Given the description of an element on the screen output the (x, y) to click on. 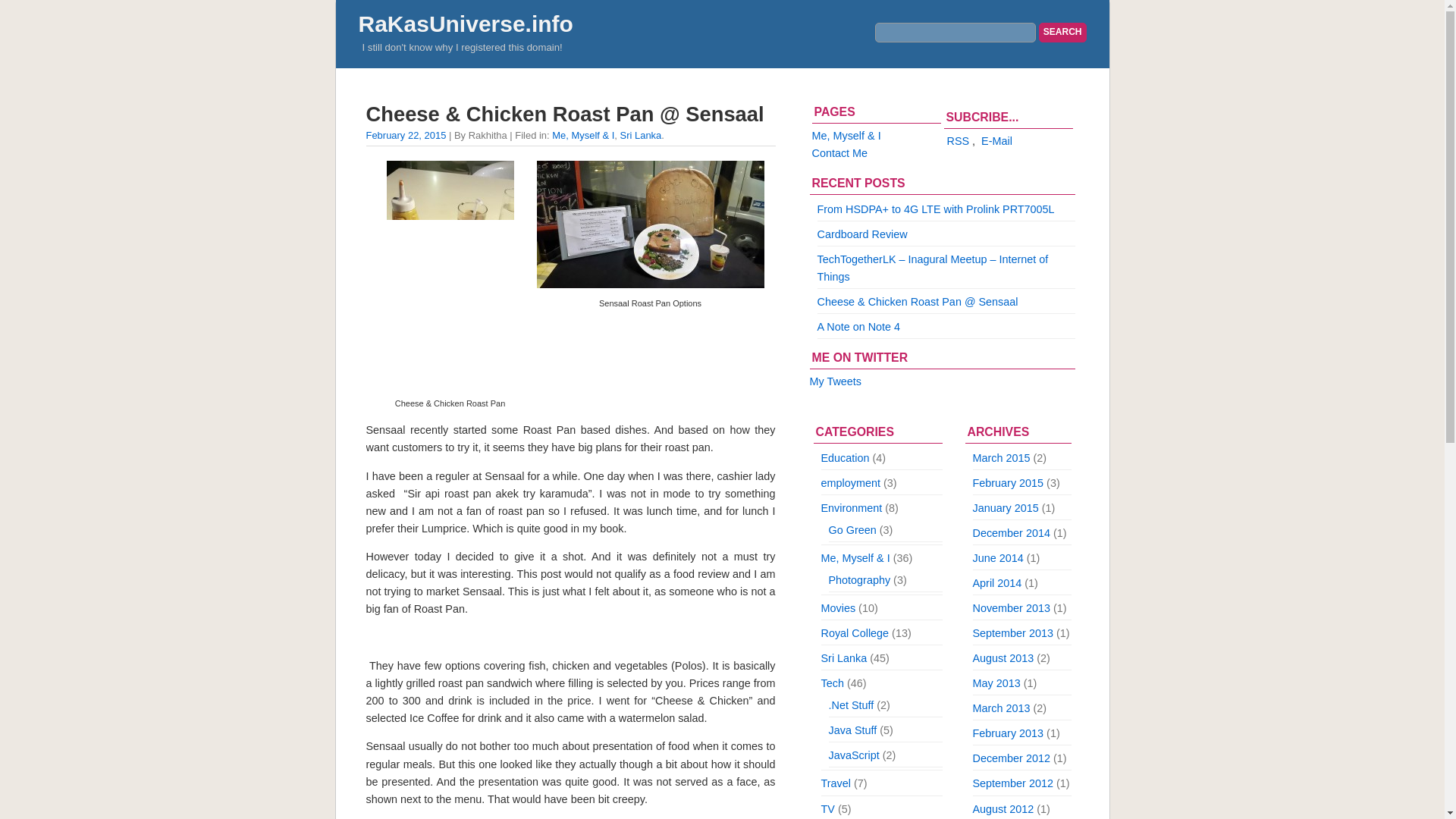
Cardboard Review (861, 234)
Environment (851, 508)
Education (845, 458)
E-Mail (996, 141)
Photography (858, 580)
A Note on Note 4 (858, 326)
My Tweets (835, 381)
Contact Me (838, 152)
Search (1062, 32)
RSS (957, 141)
